Given the description of an element on the screen output the (x, y) to click on. 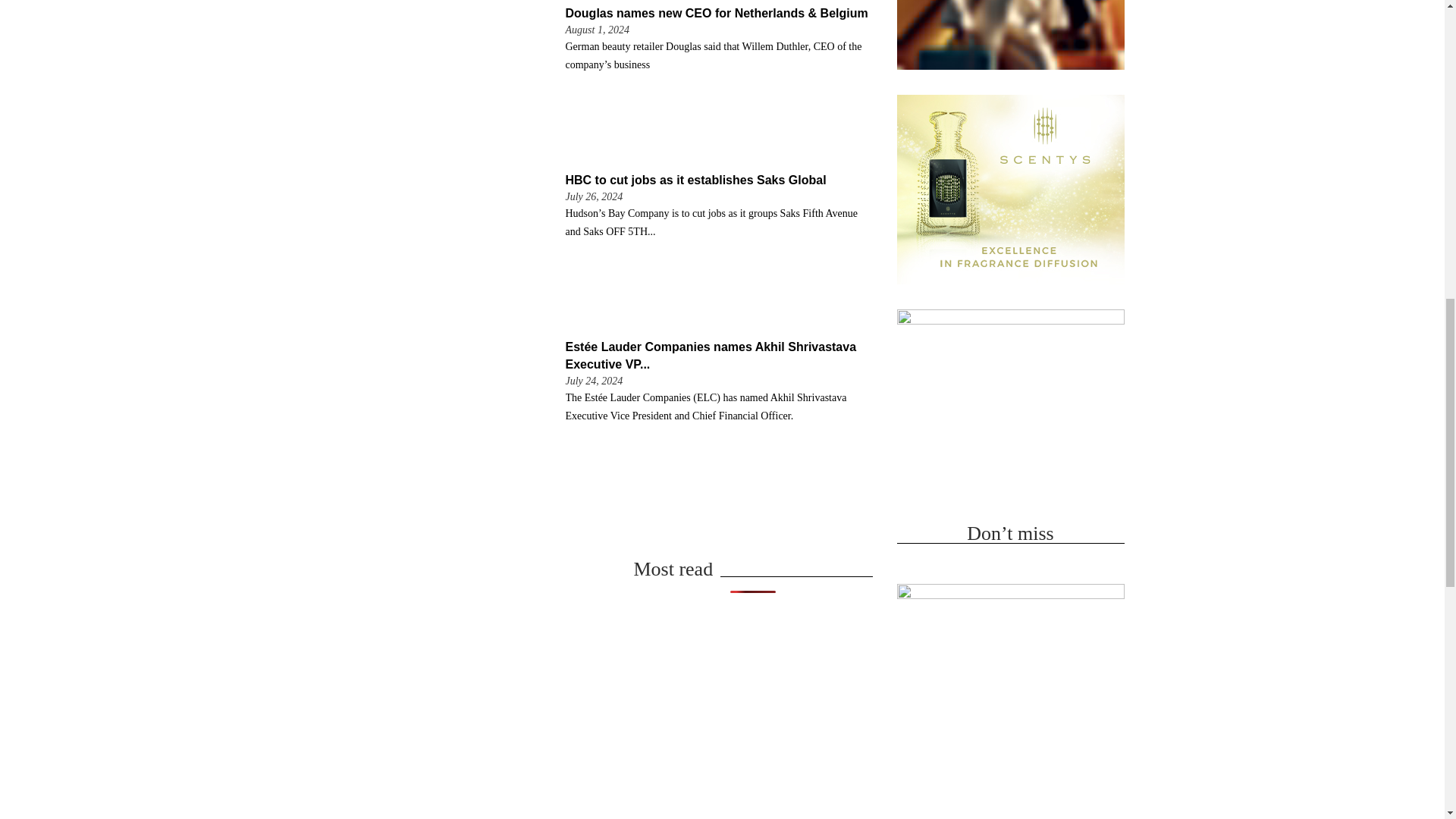
HBC to cut jobs as it establishes Saks Global (696, 179)
